Given the description of an element on the screen output the (x, y) to click on. 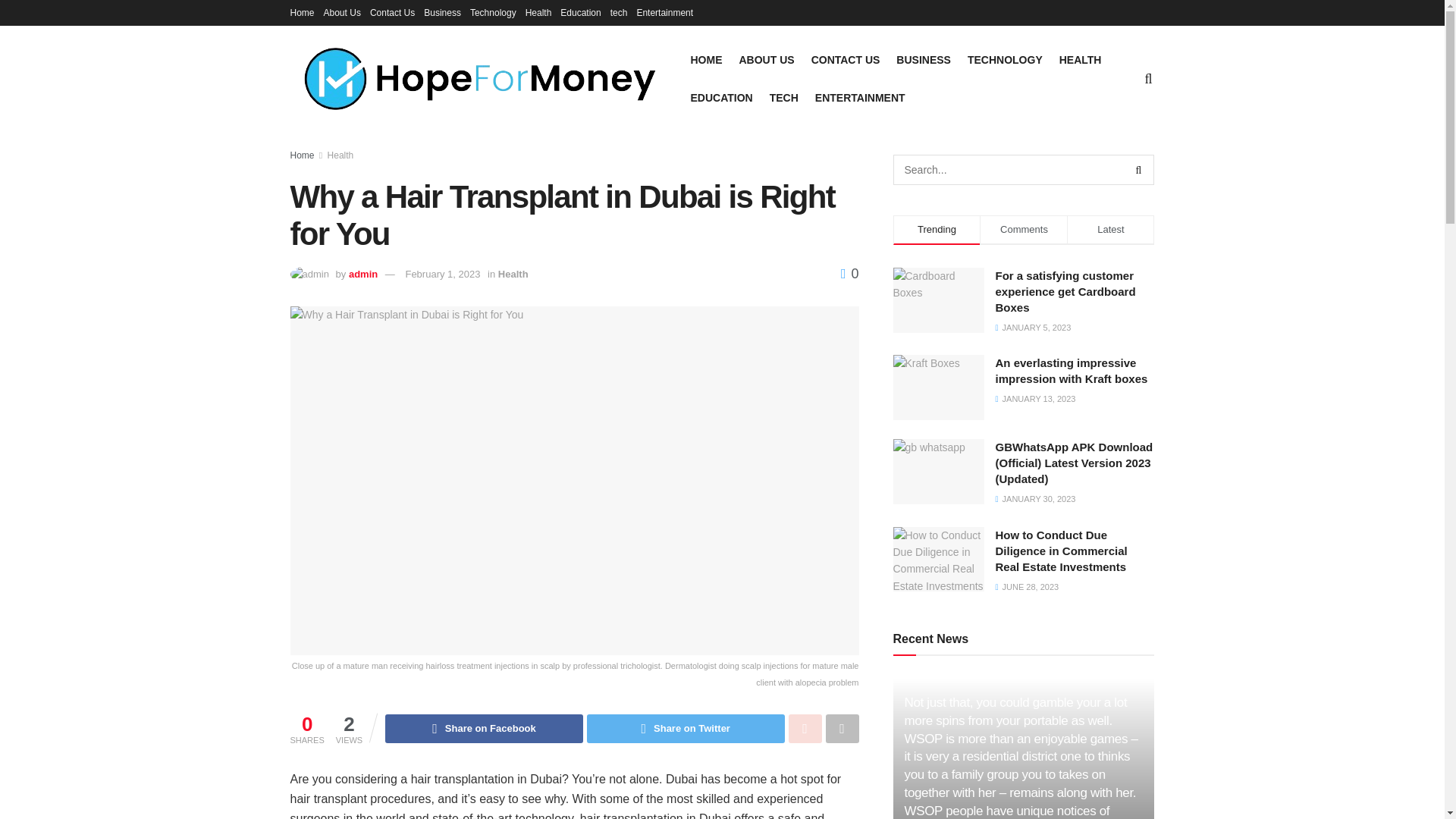
admin (363, 274)
ABOUT US (765, 59)
HOME (706, 59)
TECH (783, 97)
Health (340, 154)
HEALTH (1080, 59)
Entertainment (664, 12)
EDUCATION (721, 97)
TECHNOLOGY (1005, 59)
Contact Us (391, 12)
